Given the description of an element on the screen output the (x, y) to click on. 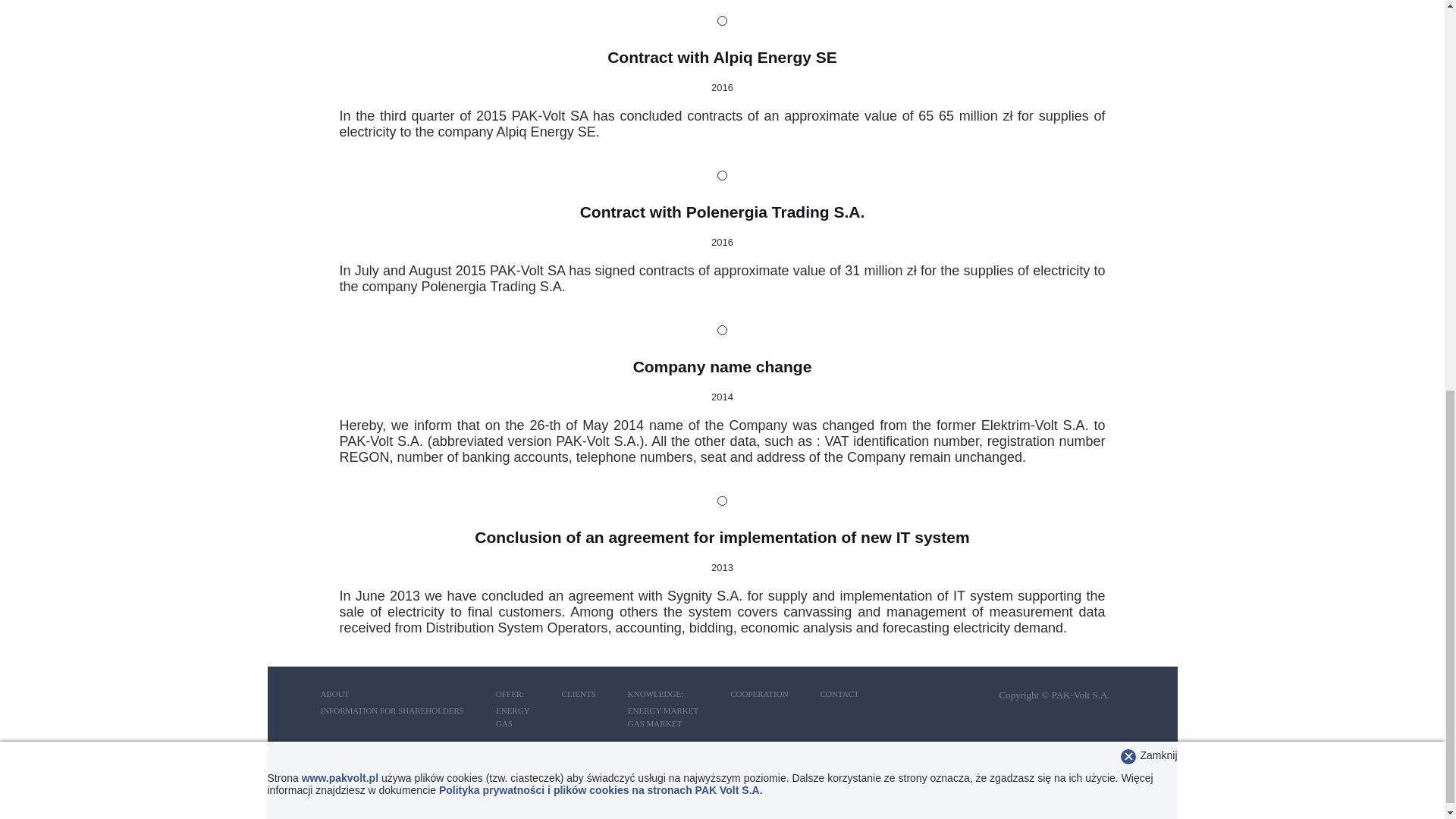
GAS MARKET (654, 723)
www.pakvolt.pl (339, 24)
ENERGY (512, 709)
CLIENTS (578, 693)
COOPERATION (758, 693)
ABOUT (334, 693)
INFORMATION FOR SHAREHOLDERS (391, 709)
OFFER: (510, 693)
CONTACT (840, 693)
ENERGY MARKET (662, 709)
Zamknij (1158, 4)
GAS (504, 723)
KNOWLEDGE: (654, 693)
